Given the description of an element on the screen output the (x, y) to click on. 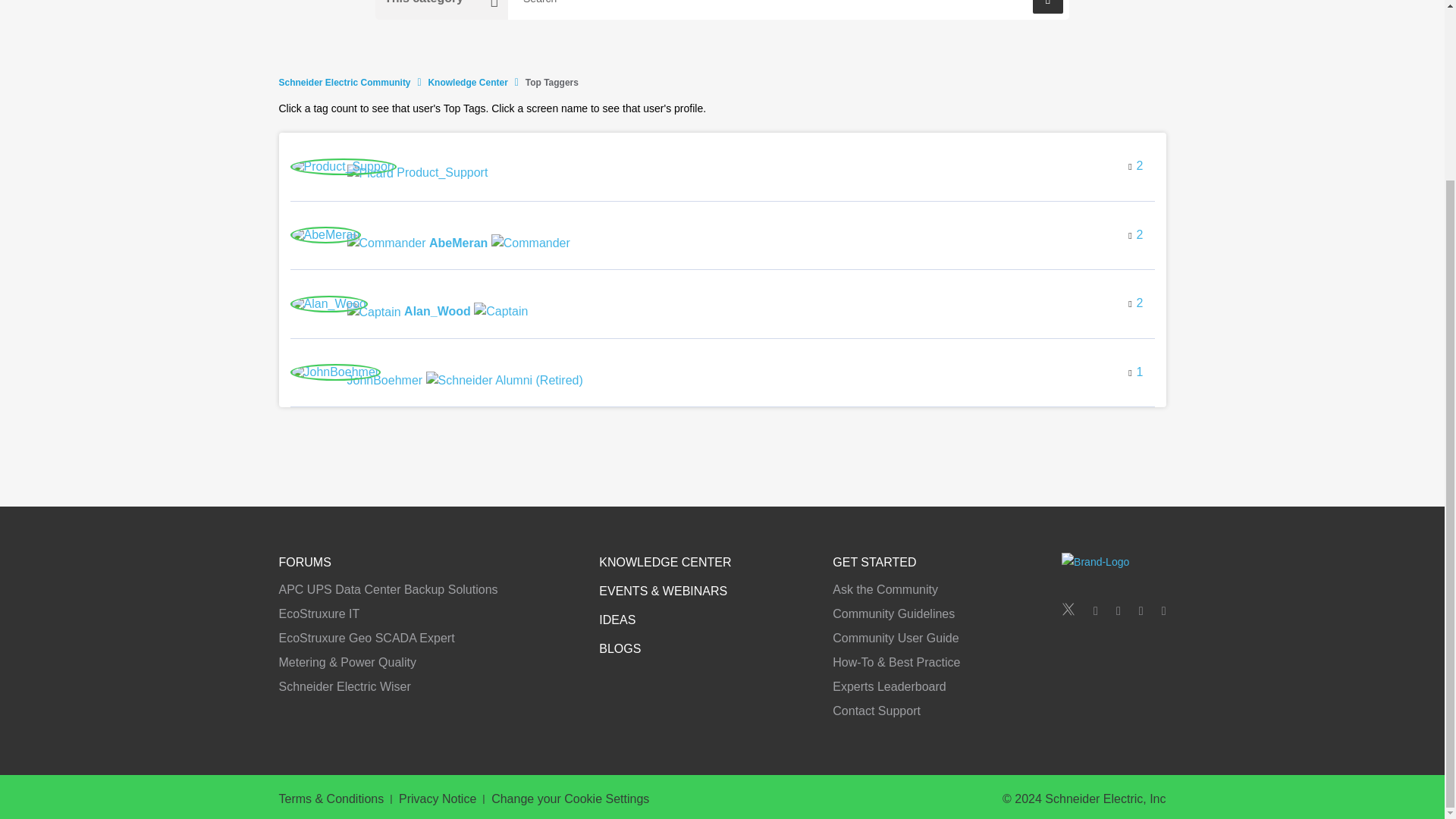
EcoStruxure Geo SCADA Expert (366, 637)
APC UPS Data Center Backup Solutions (388, 589)
Captain (374, 312)
Schneider Electric Community (344, 81)
Search (1047, 6)
Commander (531, 243)
Commander (386, 243)
FORUMS (305, 562)
Knowledge Center (467, 81)
Search (1047, 6)
Search Granularity (441, 9)
JohnBoehmer (465, 378)
Picard (370, 173)
AbeMeran (325, 234)
Search (788, 9)
